Given the description of an element on the screen output the (x, y) to click on. 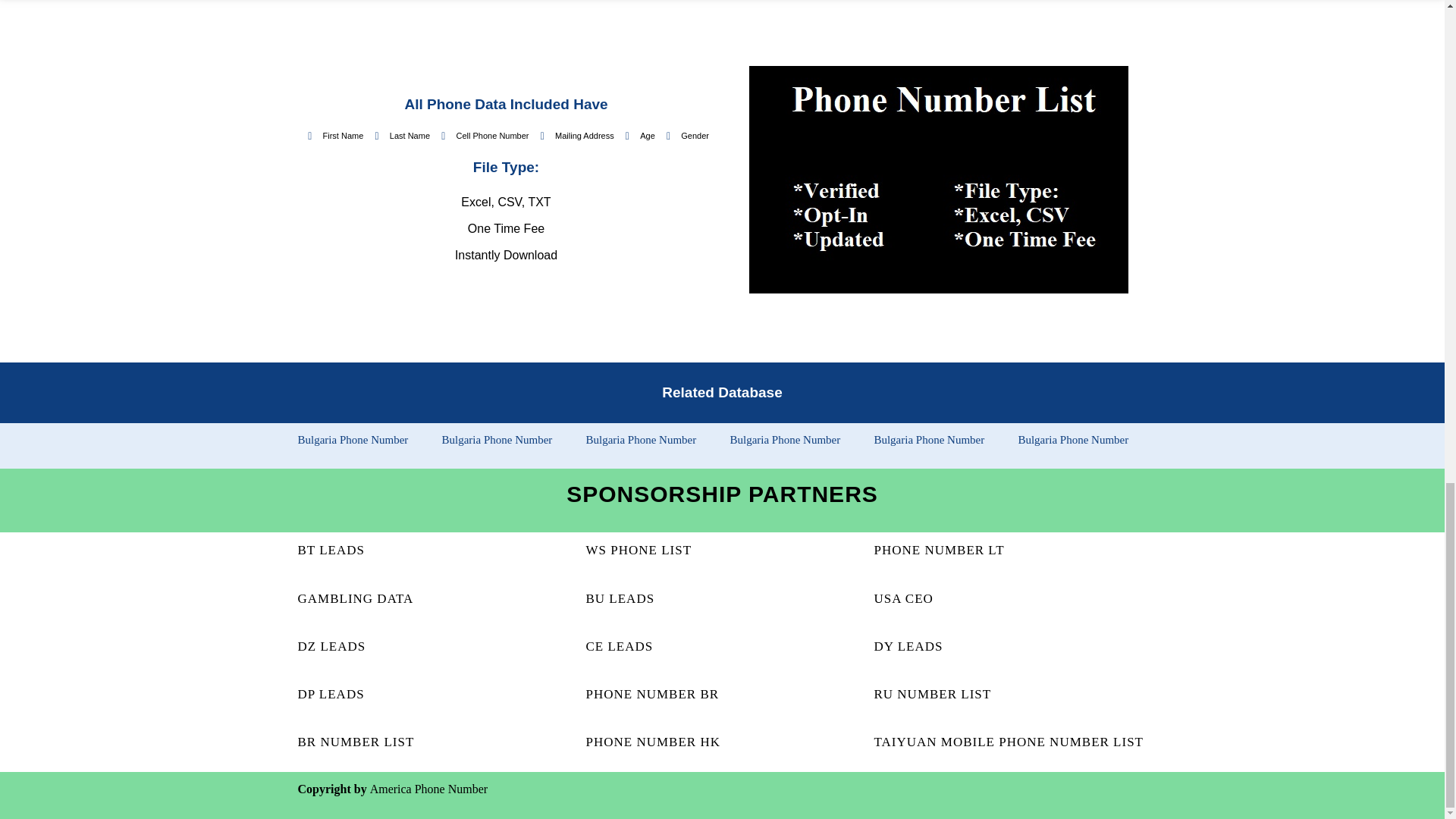
CE LEADS (618, 646)
WS PHONE LIST (638, 549)
BT LEADS (330, 549)
Bulgaria Phone Number (352, 439)
Bulgaria Phone Number (496, 439)
DZ LEADS (331, 646)
Bulgaria Phone Number (784, 439)
GAMBLING DATA (355, 598)
DP LEADS (330, 694)
Bulgaria Phone Number (928, 439)
Bulgaria Phone Number (1072, 439)
PHONE NUMBER LT (938, 549)
BR NUMBER LIST (355, 741)
Bulgaria Phone Number (640, 439)
PHONE NUMBER BR (652, 694)
